Given the description of an element on the screen output the (x, y) to click on. 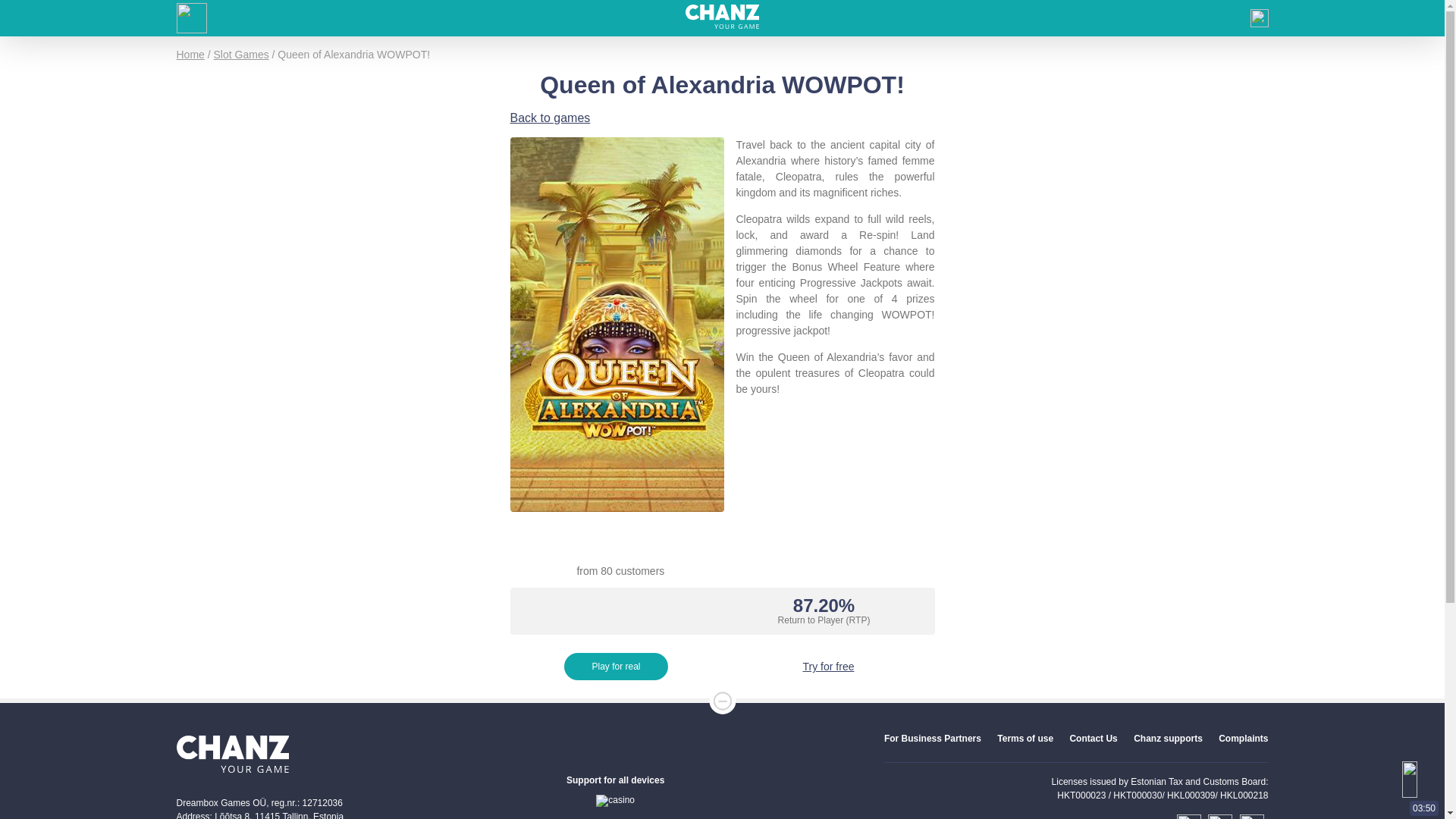
Terms of use (1024, 738)
For Business Partners (932, 738)
Try for free (828, 666)
Chanz supports (1168, 738)
Contact Us (1092, 738)
Complaints (1243, 738)
Play for real (615, 666)
Slot Games (241, 54)
Back to games (549, 117)
Home (189, 54)
